Given the description of an element on the screen output the (x, y) to click on. 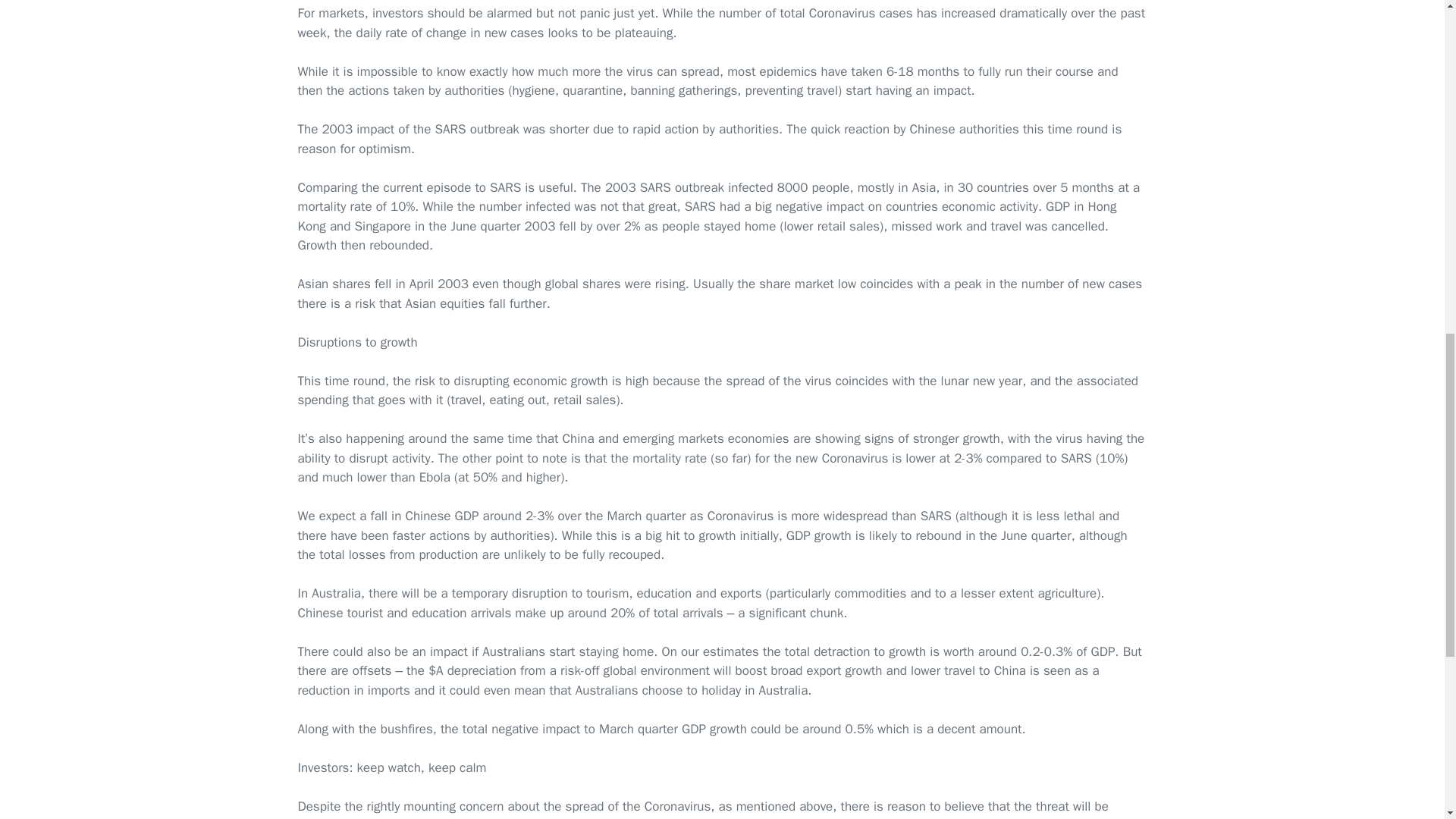
Scroll back to top (1406, 720)
